Given the description of an element on the screen output the (x, y) to click on. 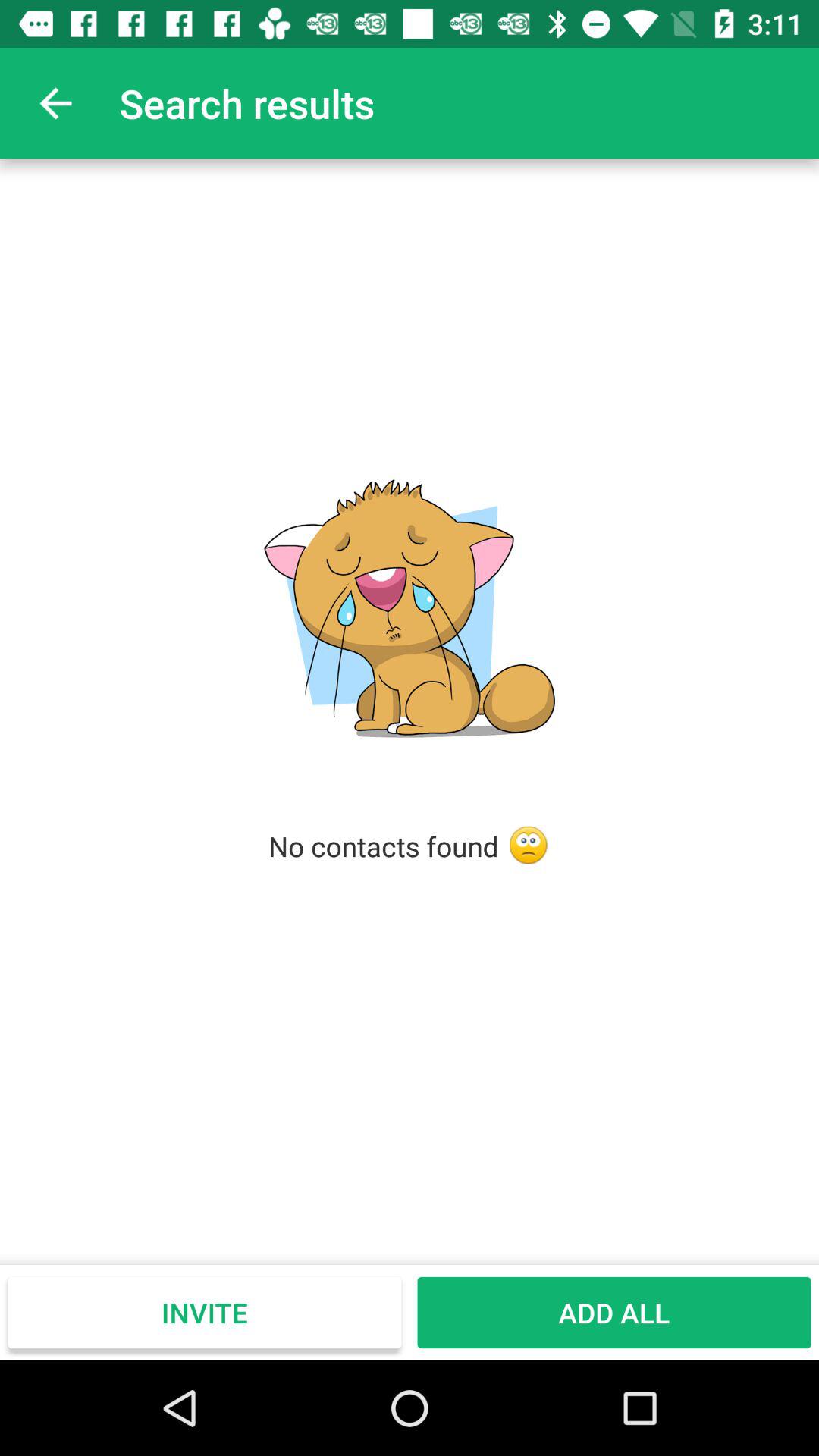
select item at the bottom left corner (204, 1312)
